Given the description of an element on the screen output the (x, y) to click on. 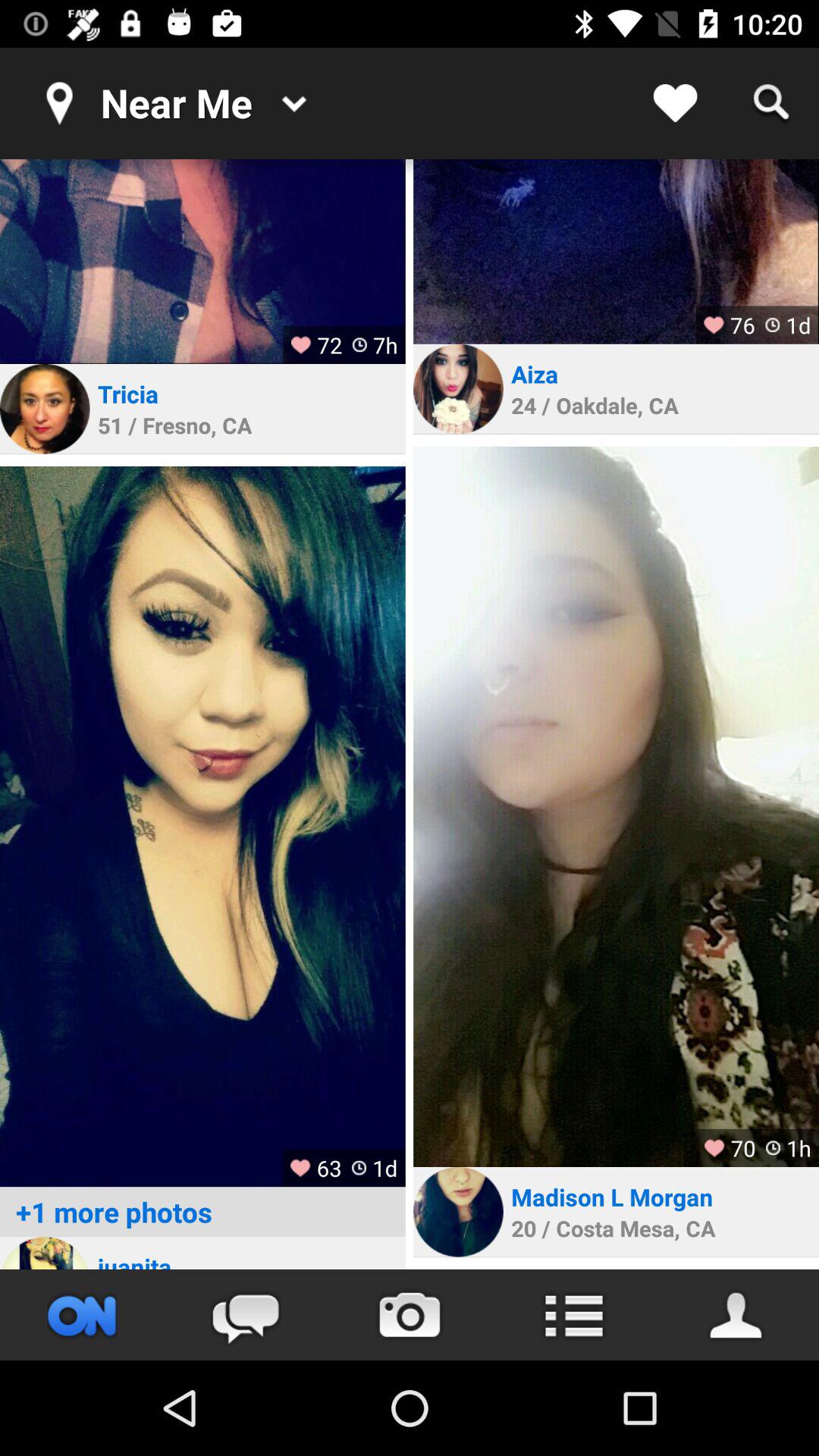
camera option (409, 1315)
